Given the description of an element on the screen output the (x, y) to click on. 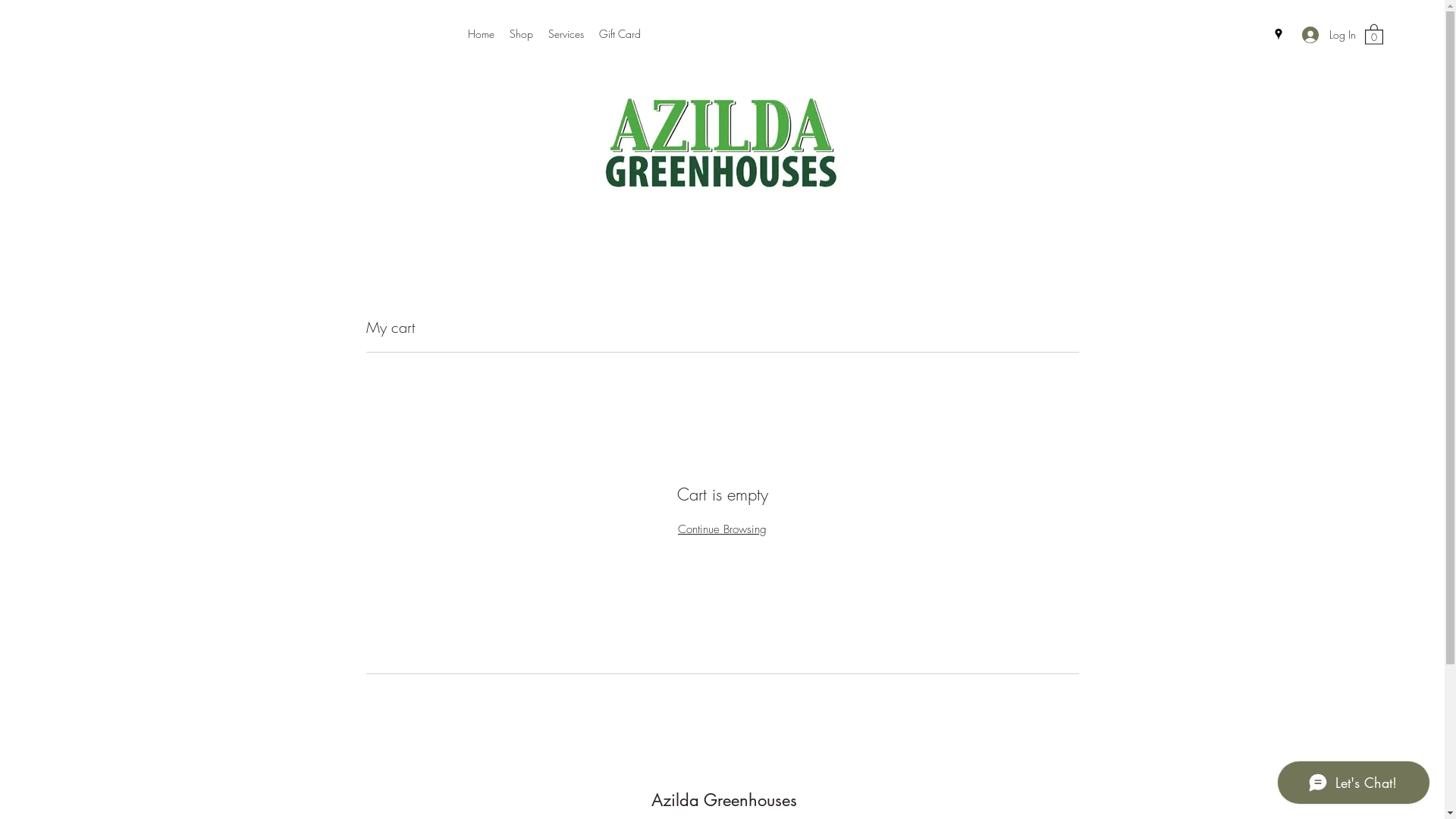
Log In Element type: text (1324, 34)
Azilda Greenhouses Element type: text (723, 799)
Gift Card Element type: text (619, 33)
Home Element type: text (481, 33)
Services Element type: text (565, 33)
Continue Browsing Element type: text (721, 528)
0 Element type: text (1374, 33)
Shop Element type: text (521, 33)
